Given the description of an element on the screen output the (x, y) to click on. 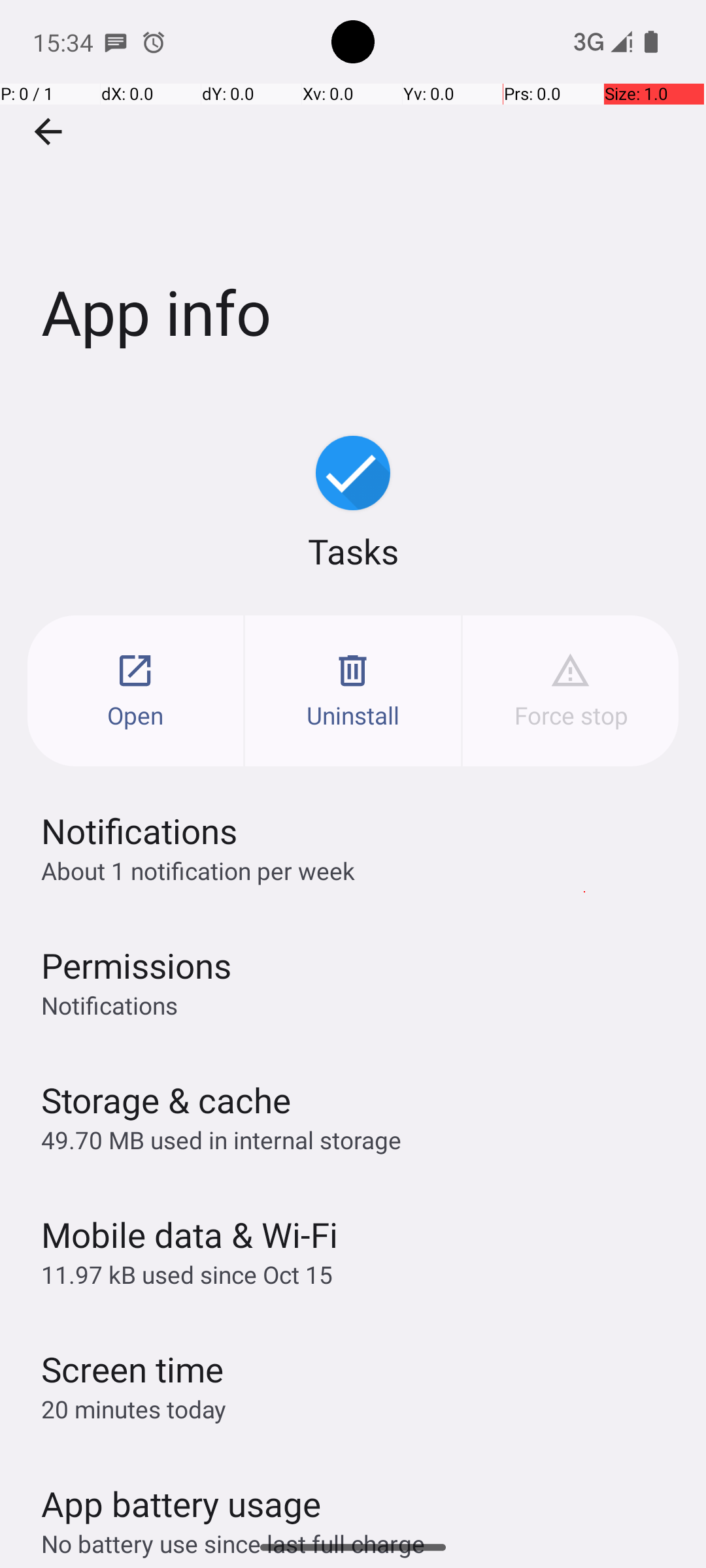
About 1 notification per week Element type: android.widget.TextView (197, 870)
49.70 MB used in internal storage Element type: android.widget.TextView (221, 1139)
11.97 kB used since Oct 15 Element type: android.widget.TextView (186, 1273)
20 minutes today Element type: android.widget.TextView (133, 1408)
